Given the description of an element on the screen output the (x, y) to click on. 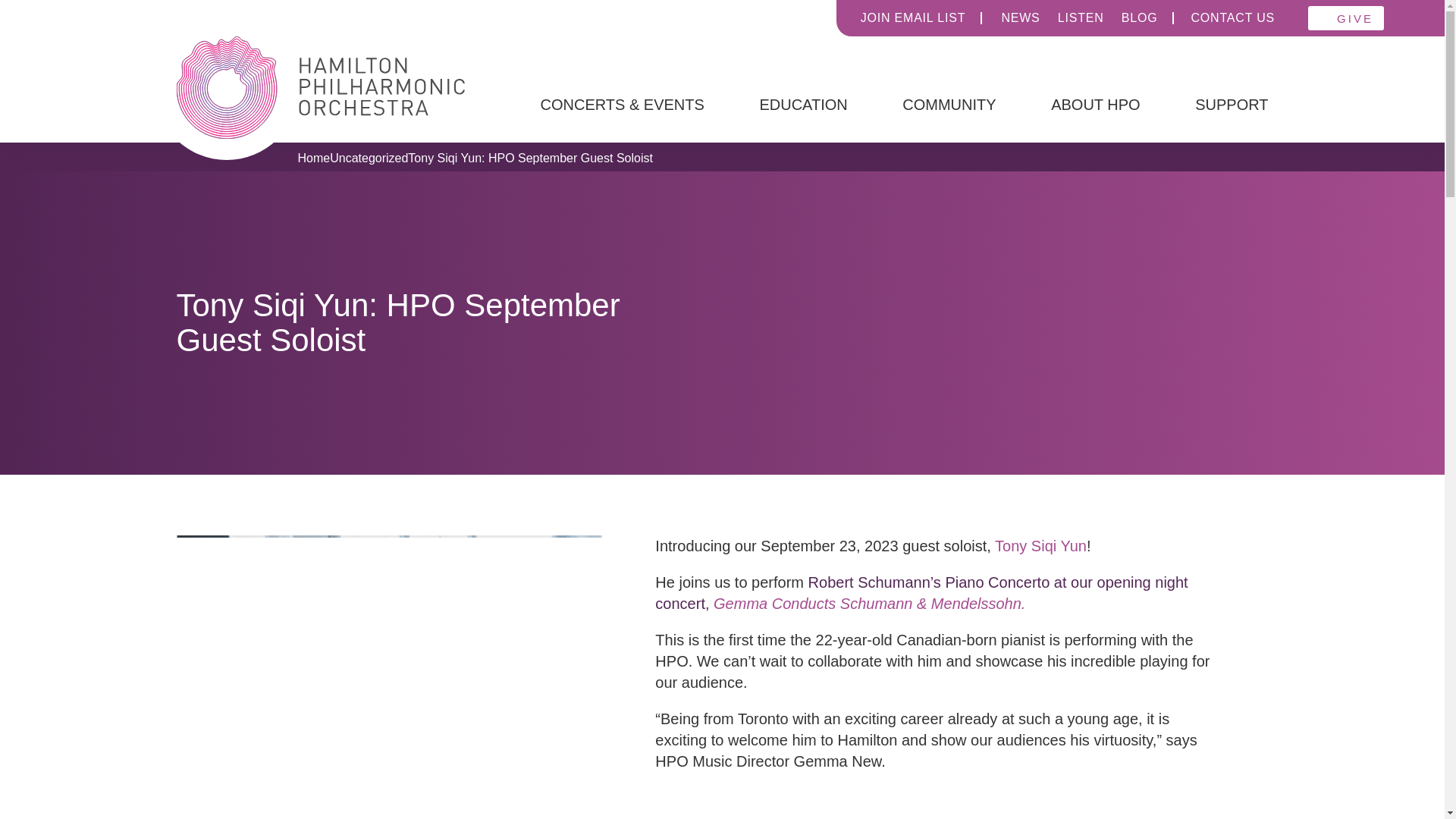
Uncategorized (368, 157)
Tony Siqi Yun (1040, 545)
EDUCATION (802, 104)
JOIN EMAIL LIST (911, 17)
ABOUT HPO (1095, 104)
BLOG (1138, 17)
Home (313, 157)
COMMUNITY (948, 104)
CONTACT US (1233, 17)
